Given the description of an element on the screen output the (x, y) to click on. 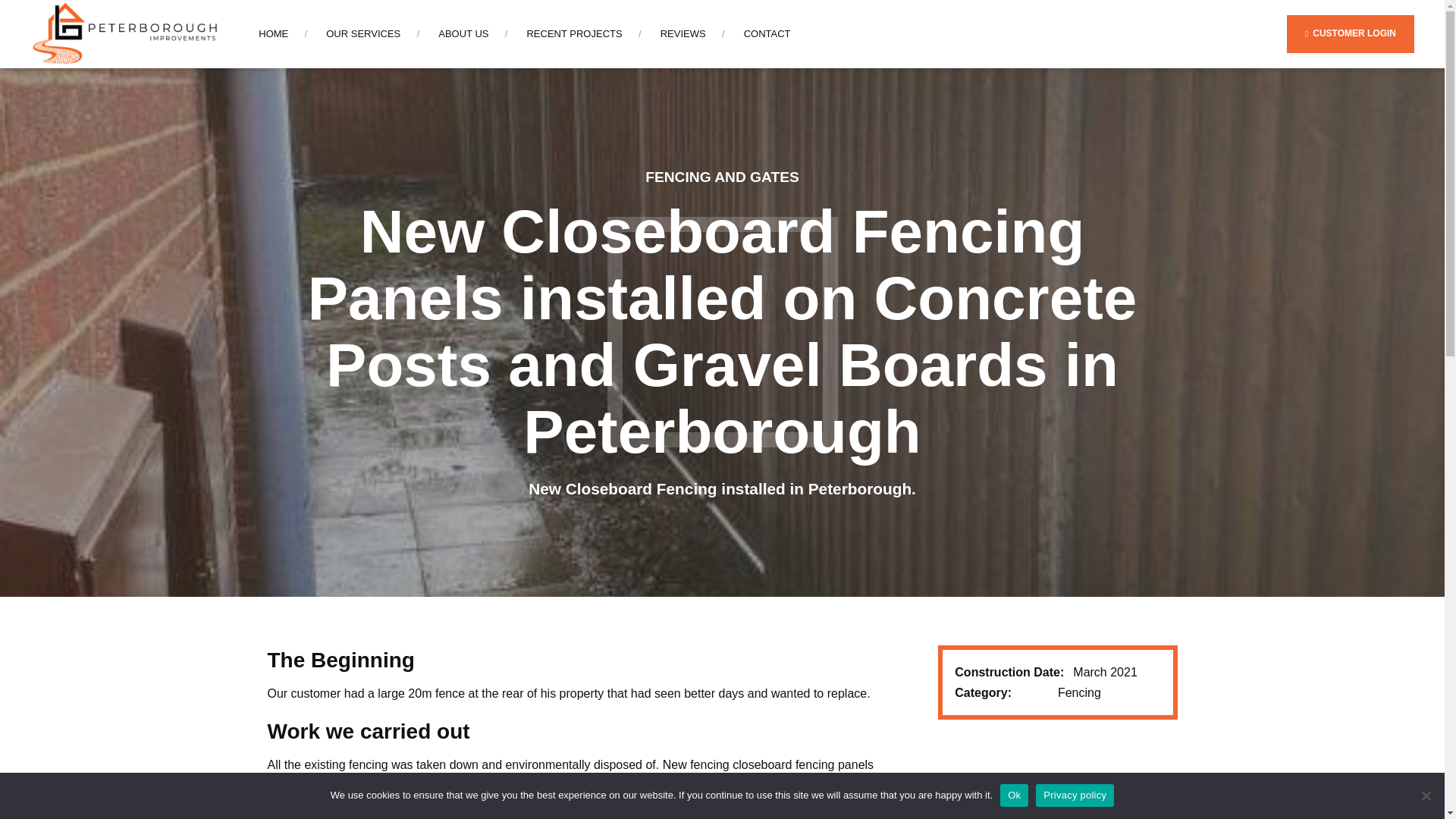
OUR SERVICES (363, 33)
CUSTOMER LOGIN (1350, 33)
No (1425, 795)
